Given the description of an element on the screen output the (x, y) to click on. 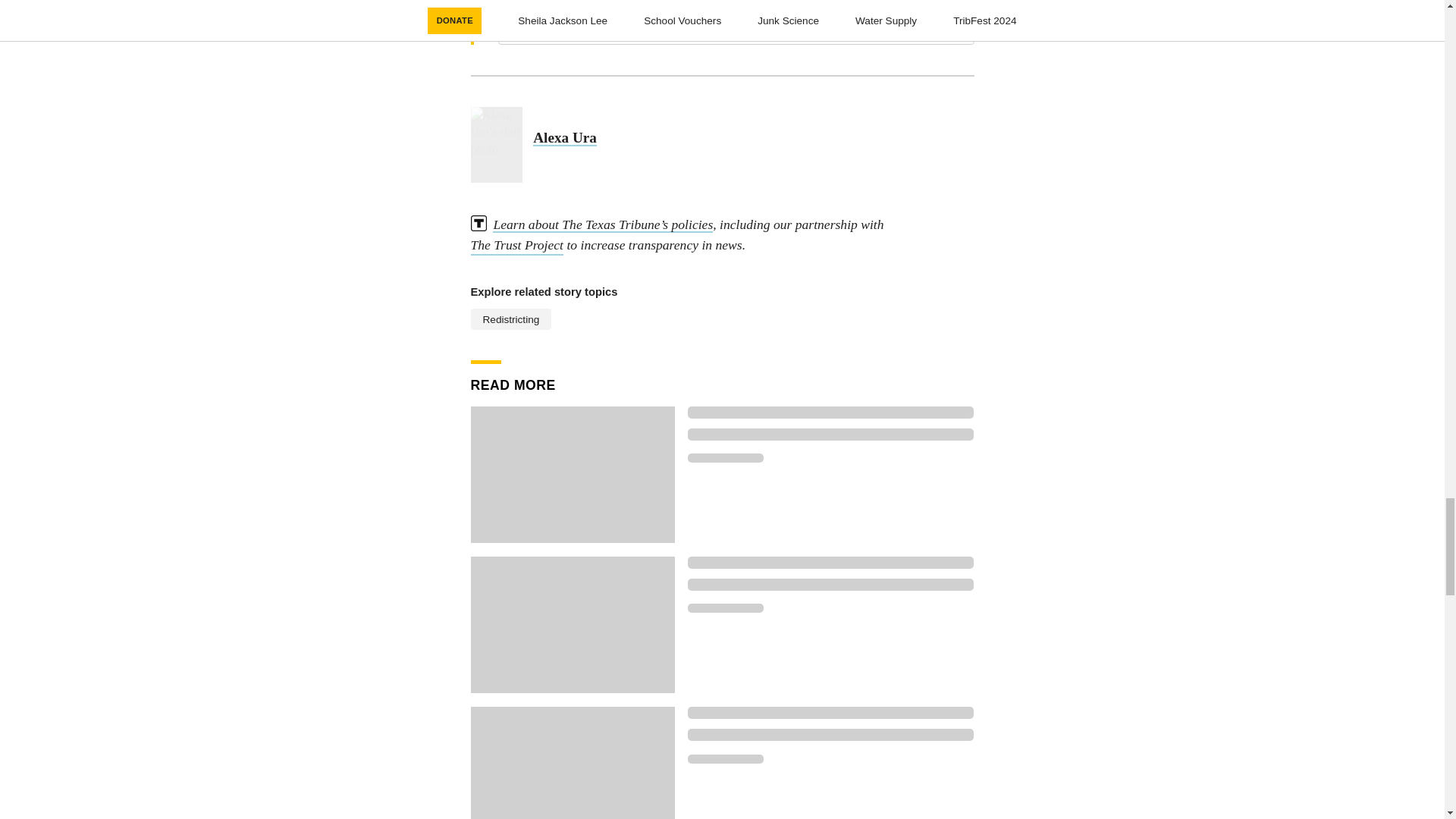
Loading indicator (724, 607)
Loading indicator (830, 412)
Loading indicator (830, 712)
Loading indicator (724, 757)
Loading indicator (830, 584)
Loading indicator (724, 457)
Loading indicator (830, 562)
Loading indicator (830, 734)
Loading indicator (830, 434)
